Given the description of an element on the screen output the (x, y) to click on. 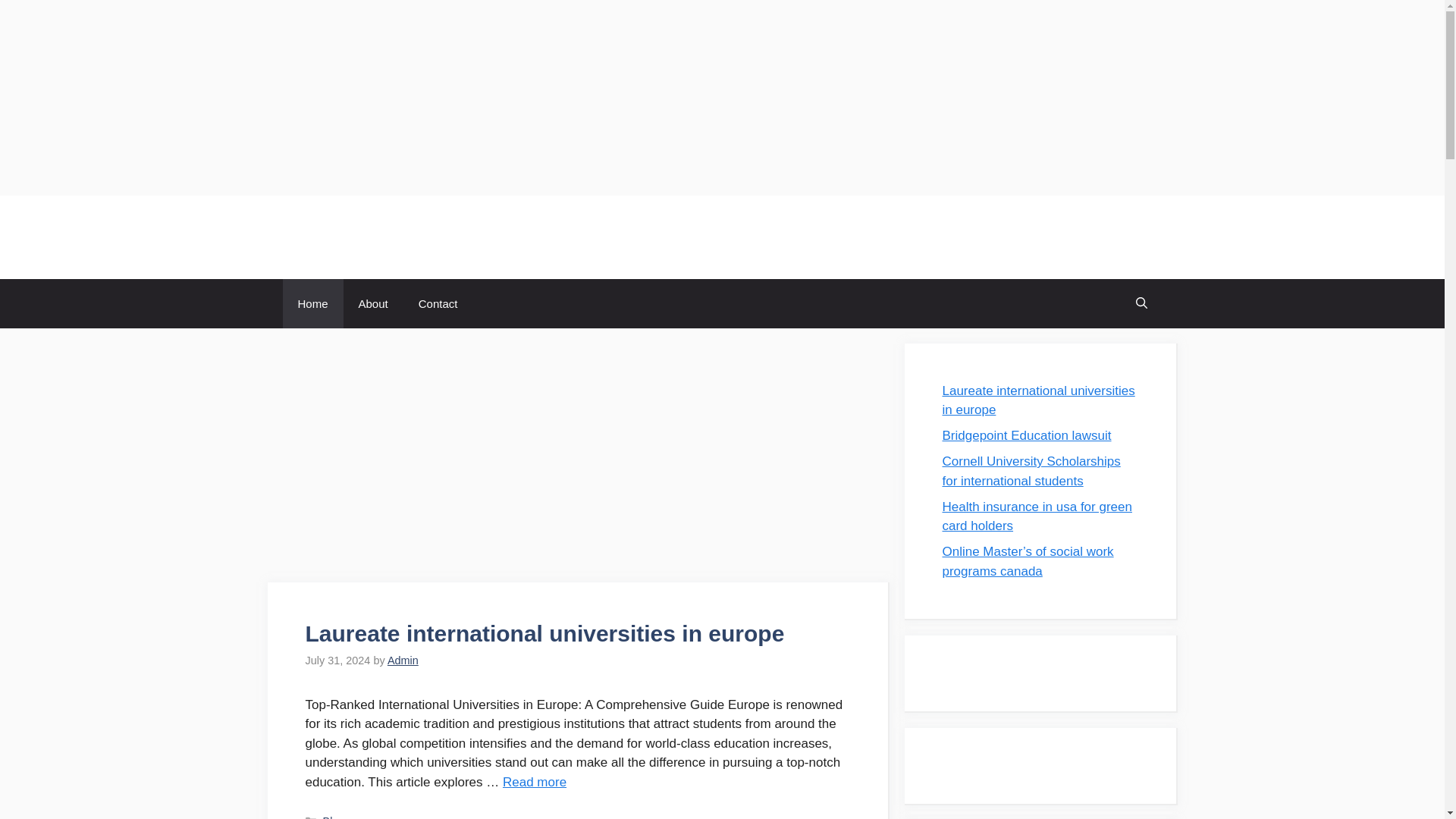
Laureate international universities in europe (534, 781)
Admin (403, 660)
Home (312, 303)
Read more (534, 781)
Laureate international universities in europe (544, 633)
View all posts by Admin (403, 660)
Contact (438, 303)
Advertisement (578, 456)
STUDENTS UPDATES (395, 236)
About (373, 303)
Blog (334, 816)
